Given the description of an element on the screen output the (x, y) to click on. 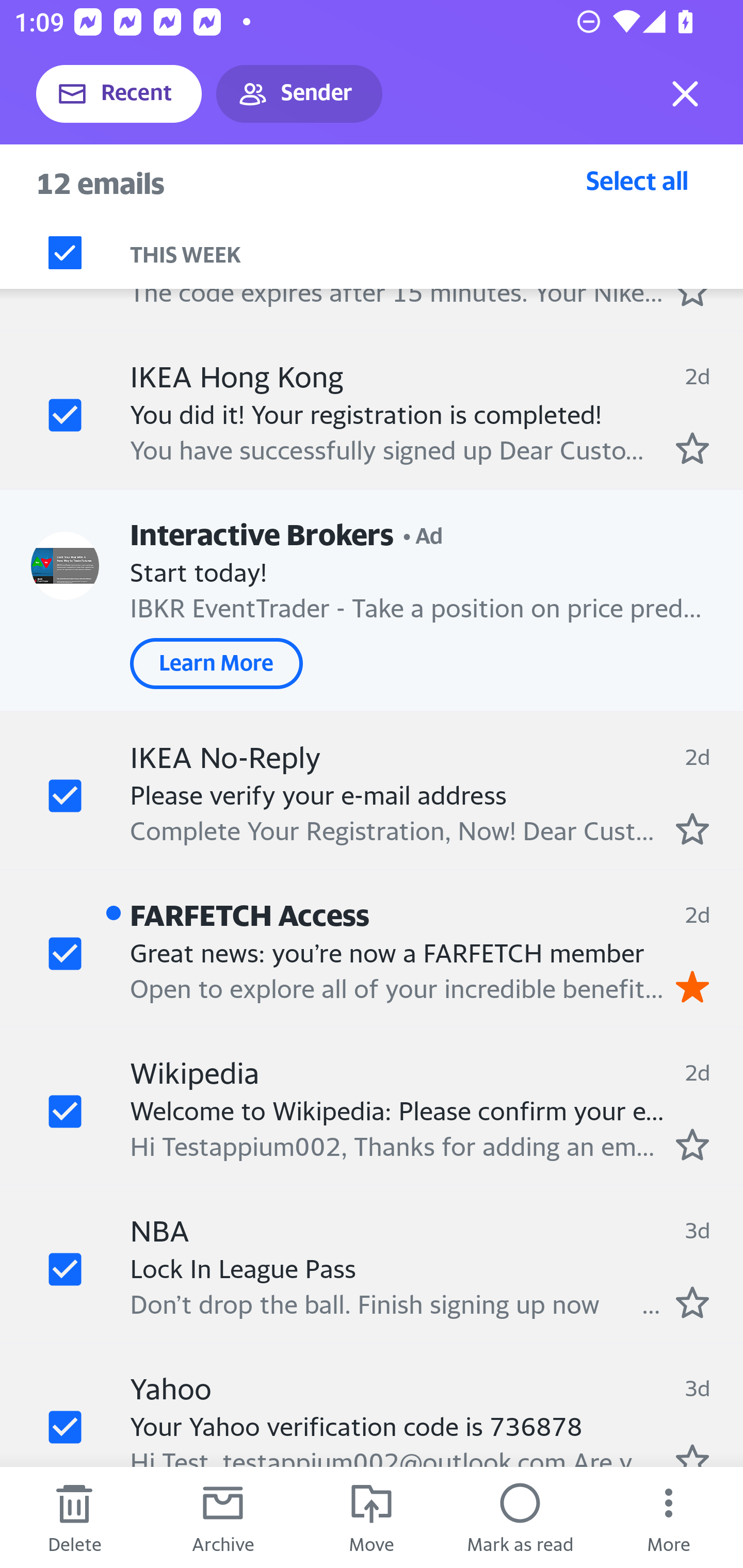
Sender (299, 93)
Exit selection mode (684, 93)
Select all (637, 180)
Mark as starred. (692, 447)
Mark as starred. (692, 828)
Remove star. (692, 987)
Mark as starred. (692, 1143)
Mark as starred. (692, 1302)
Mark as starred. (692, 1454)
Delete (74, 1517)
Archive (222, 1517)
Move (371, 1517)
Mark as read (519, 1517)
More (668, 1517)
